Given the description of an element on the screen output the (x, y) to click on. 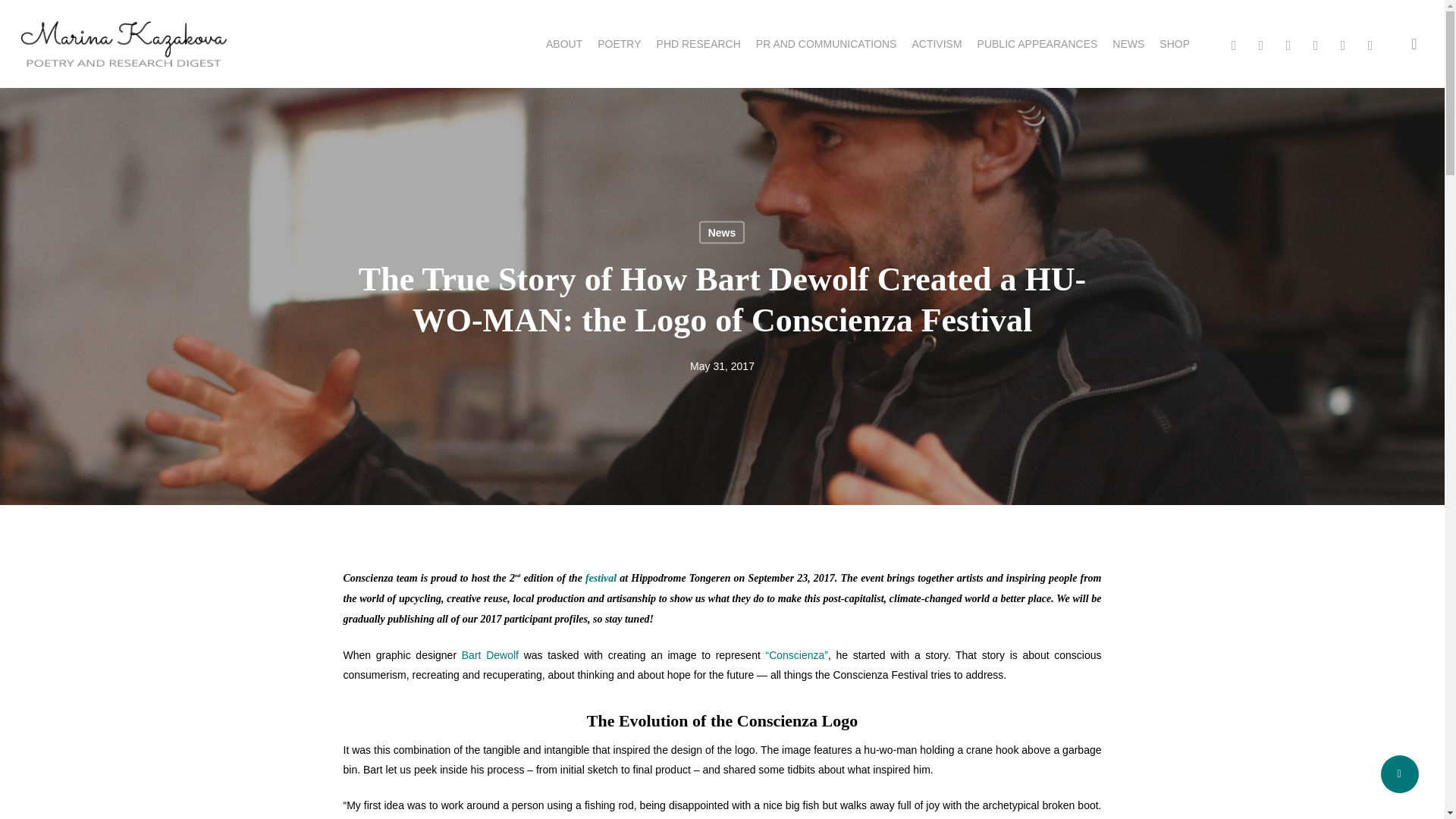
YOUTUBE (1342, 43)
POETRY (618, 43)
VIMEO (1288, 43)
TWITTER (1233, 43)
FACEBOOK (1261, 43)
PHD RESEARCH (698, 43)
PUBLIC APPEARANCES (1037, 43)
INSTAGRAM (1370, 43)
search (1414, 44)
SHOP (1173, 43)
